Given the description of an element on the screen output the (x, y) to click on. 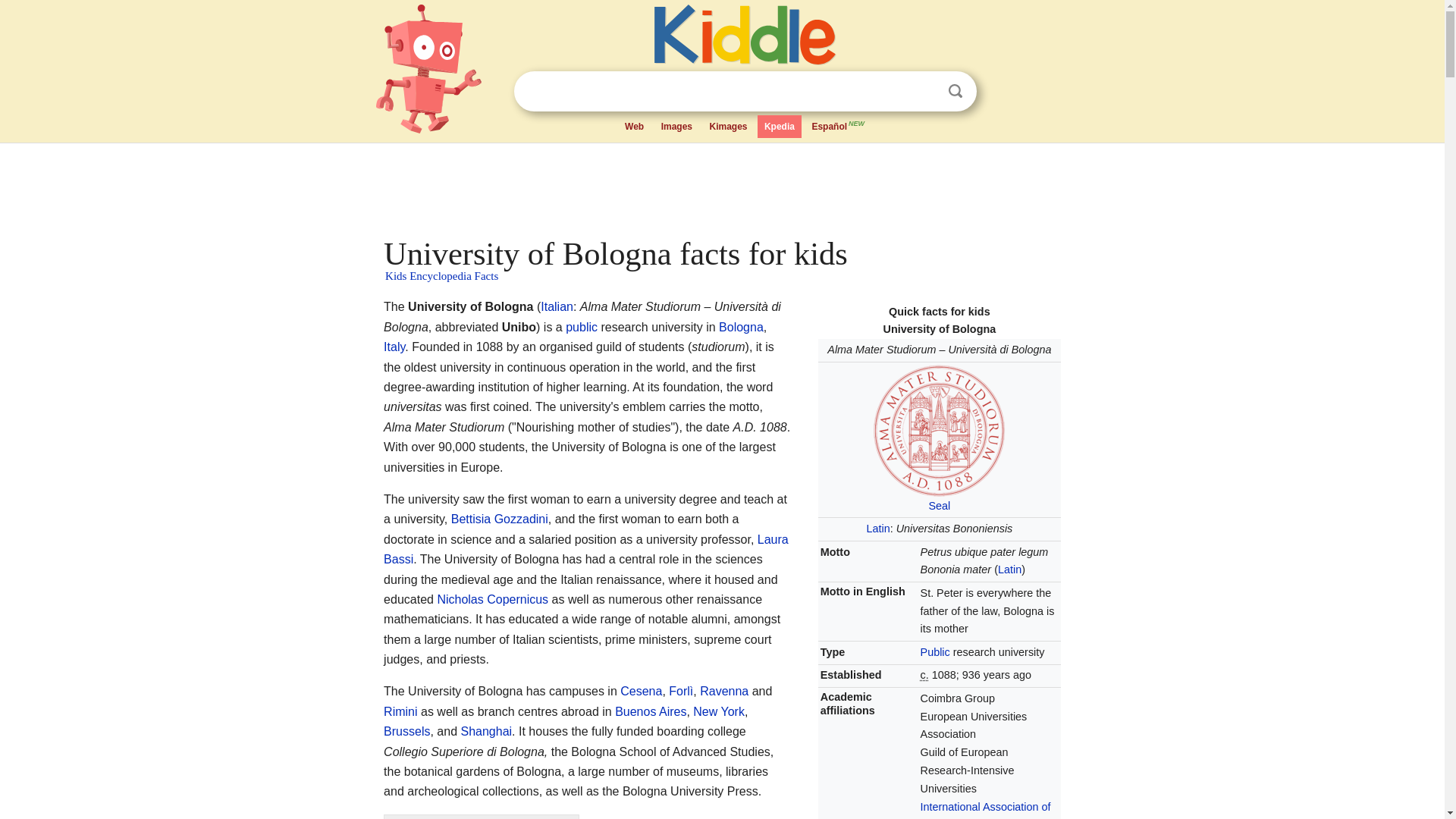
Seal (939, 505)
Kids Encyclopedia Facts (441, 275)
Search (955, 91)
Laura Bassi (586, 549)
Public (935, 652)
Web (633, 126)
New York (718, 711)
Latin (877, 528)
International Association of Universities (985, 809)
Italian (556, 306)
Ravenna (724, 690)
Kimages (727, 126)
Latin (1009, 569)
Italian language (556, 306)
Images (675, 126)
